Given the description of an element on the screen output the (x, y) to click on. 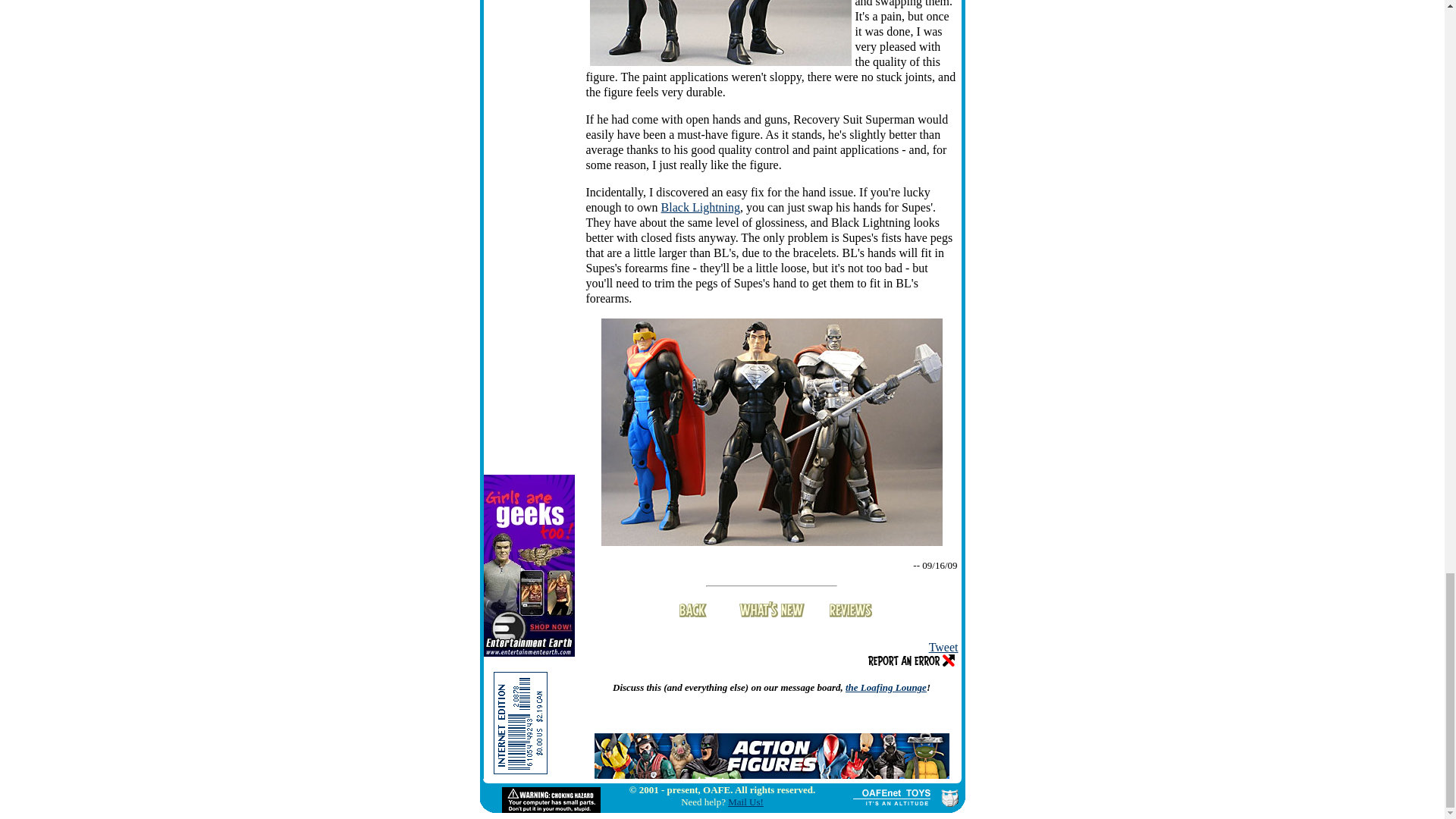
much-improved (720, 33)
almost there... (770, 432)
